Given the description of an element on the screen output the (x, y) to click on. 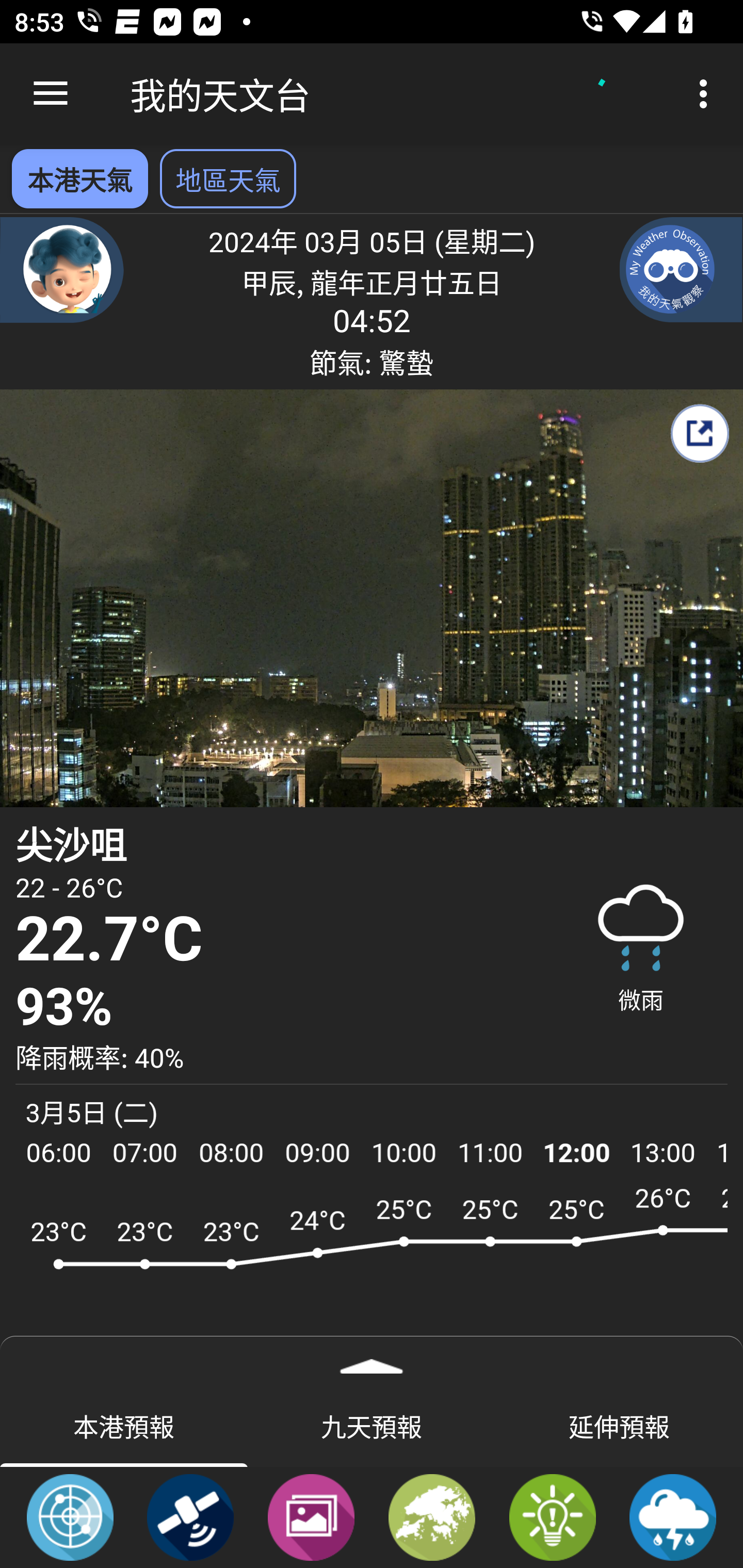
向上瀏覽 (50, 93)
更多選項 (706, 93)
本港天氣 已選擇 本港天氣 (79, 178)
地區天氣 選擇 地區天氣 (227, 178)
聊天機械人 (62, 269)
我的天氣觀察 (680, 269)
分享我的天氣報告 (699, 433)
22.7°C 氣溫22.7攝氏度 (276, 939)
93% 相對濕度百分之93 (276, 1007)
九天自動天氣預報 圖片
輕按進入內頁，即可了解詳細資料。 ARWF (371, 1275)
展開 (371, 1358)
本港預報 本港預報 九天預報 九天預報 延伸預報 延伸預報 (371, 1424)
九天預報 (371, 1424)
延伸預報 (619, 1424)
雷達圖像 (69, 1516)
衛星圖像 (190, 1516)
天氣照片 (310, 1516)
分區天氣 (431, 1516)
天氣提示 (551, 1516)
定點降雨及閃電預報 (672, 1516)
